Given the description of an element on the screen output the (x, y) to click on. 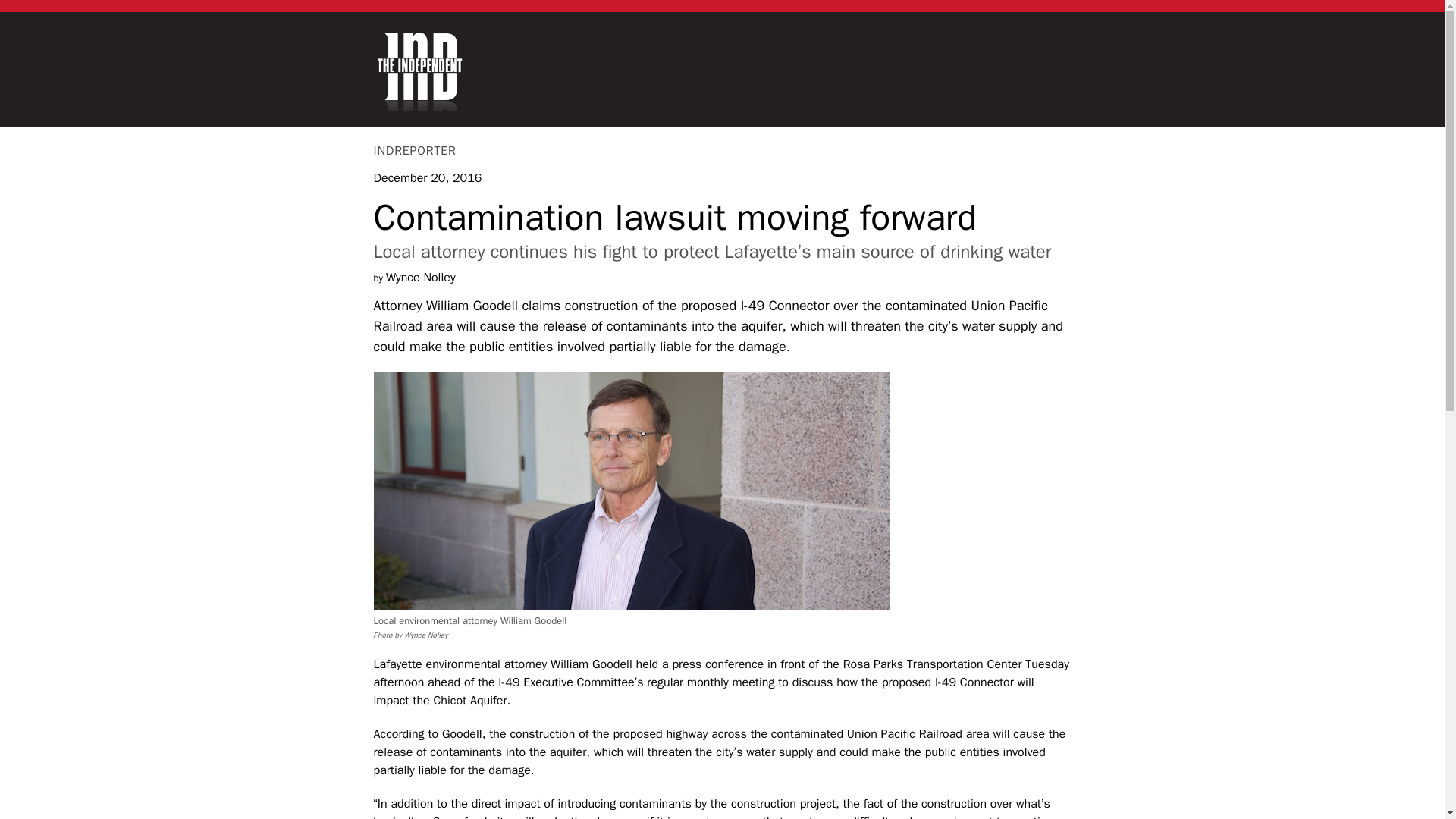
Tue, Dec 20, 2016, 3:45 PM (426, 177)
INDREPORTER (413, 149)
